Given the description of an element on the screen output the (x, y) to click on. 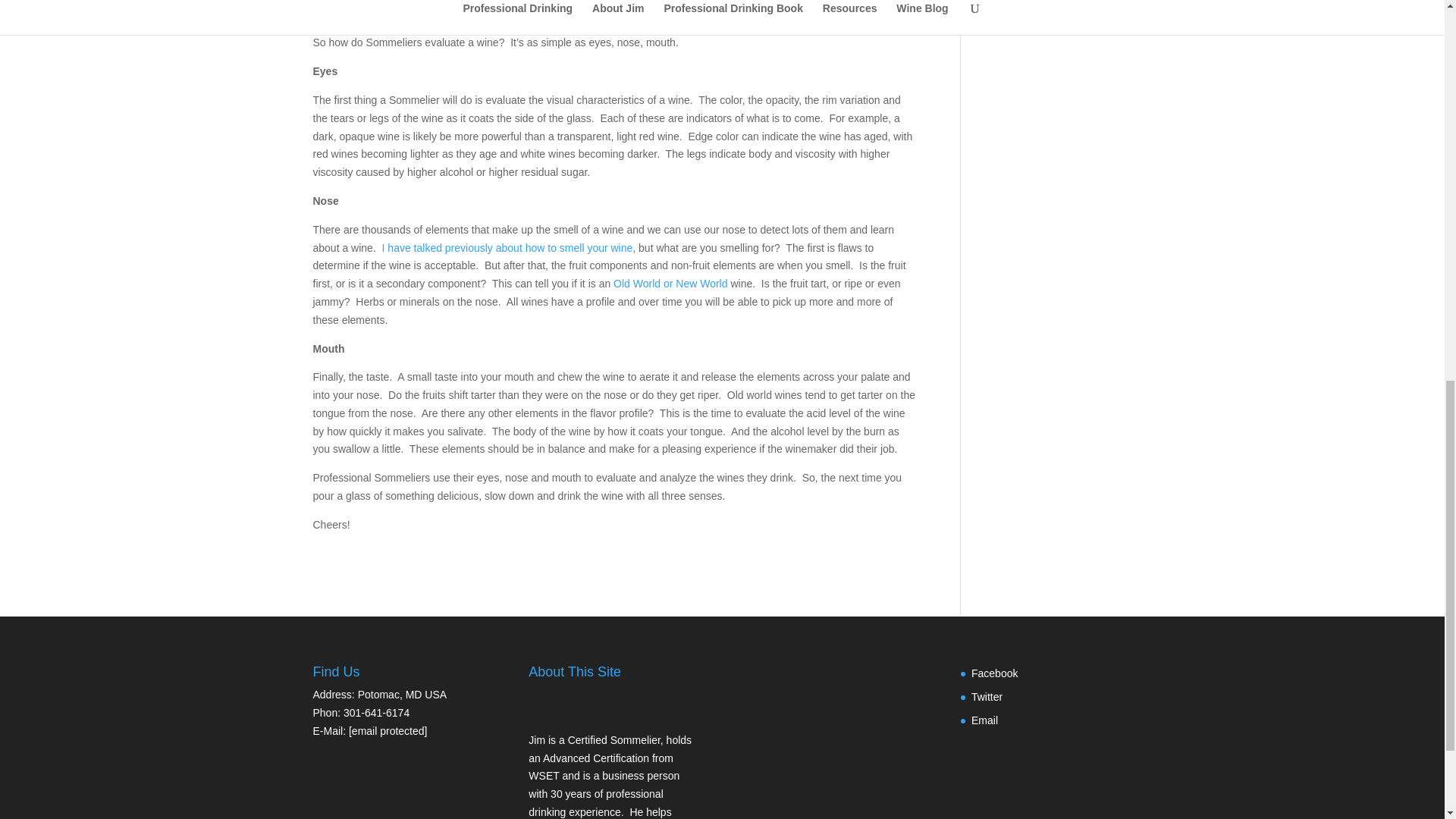
Old World or New World (669, 283)
I have talked previously about how to smell your wine (507, 247)
Email (984, 720)
Facebook (994, 673)
Twitter (987, 696)
